Given the description of an element on the screen output the (x, y) to click on. 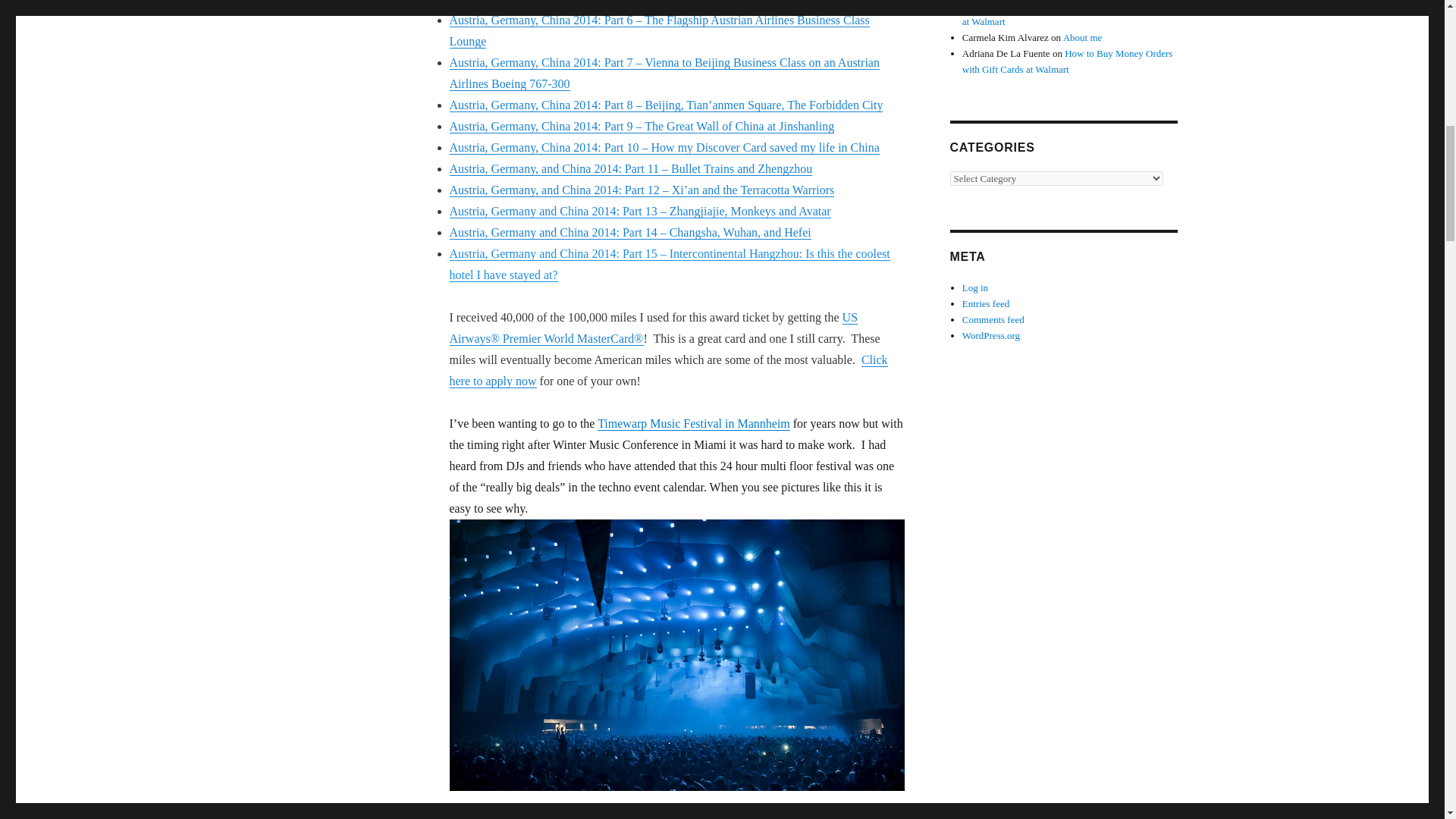
Click here to apply now (667, 369)
Timewarp Music Festival in Mannheim (693, 422)
Is this the coolest hotel I have stayed at? (668, 264)
